Given the description of an element on the screen output the (x, y) to click on. 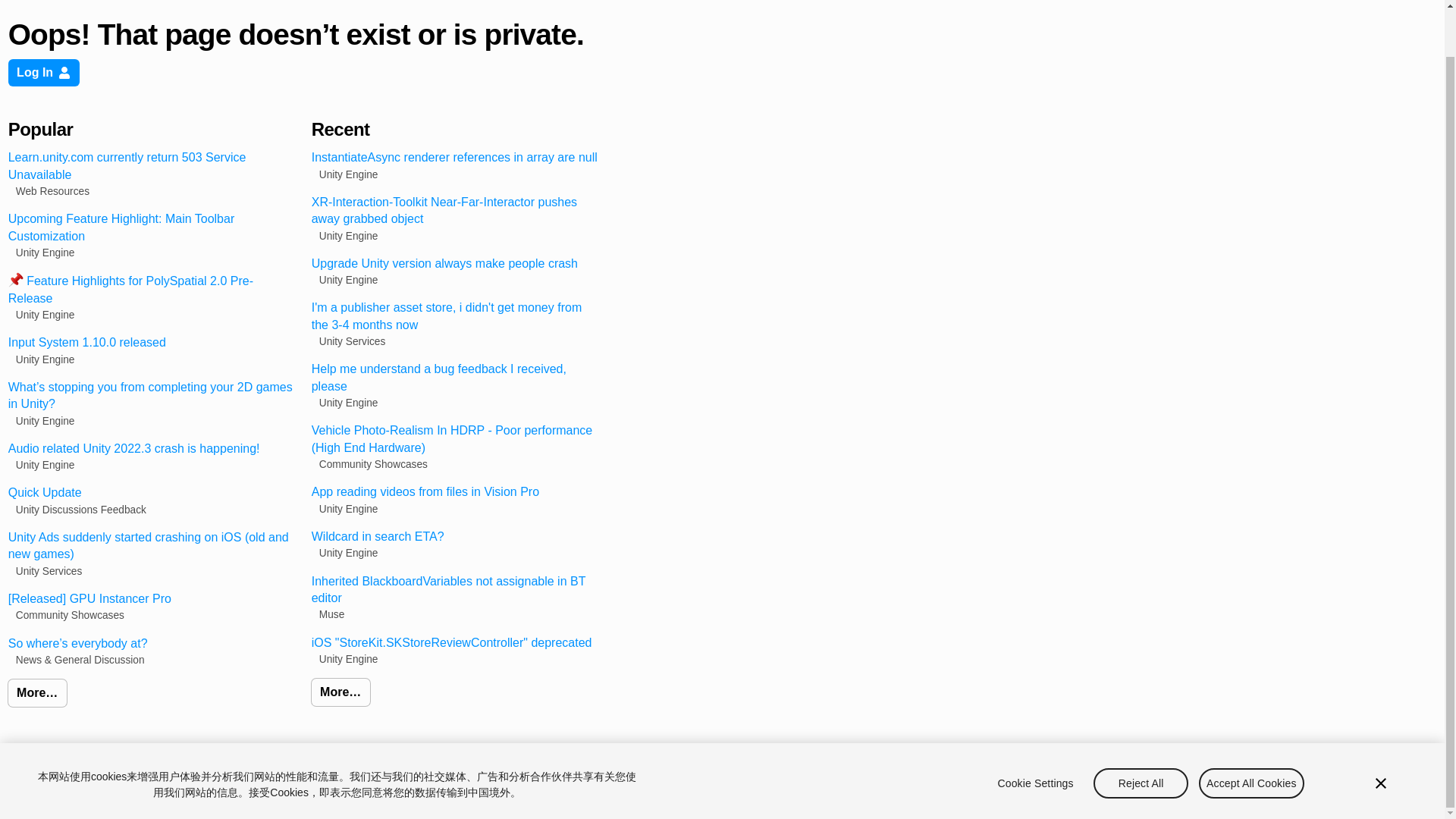
Unity Engine (41, 421)
Learn.unity.com currently return 503 Service Unavailable (152, 166)
Unity Engine (344, 402)
Unity Engine (41, 314)
Audio related Unity 2022.3 crash is happening! (152, 448)
Unity Engine (344, 174)
Unity Engine (344, 279)
Web Resources (49, 191)
Upgrade Unity version always make people crash (455, 263)
